Given the description of an element on the screen output the (x, y) to click on. 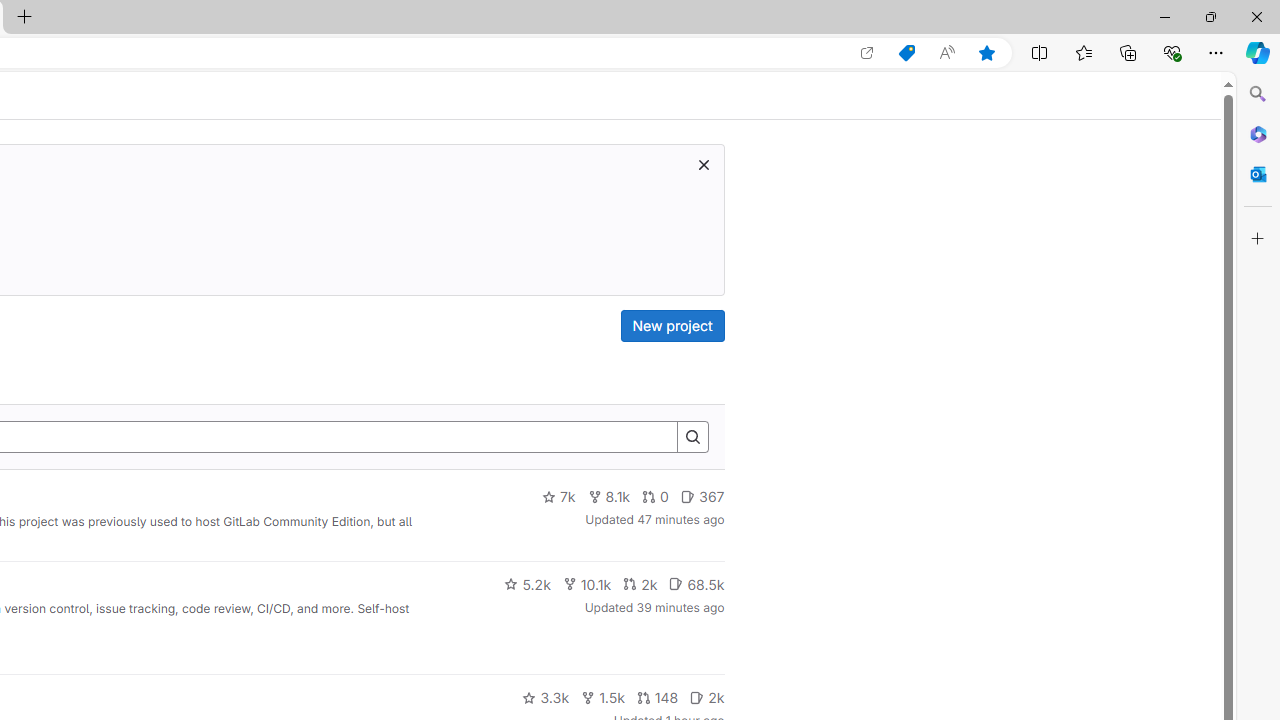
New project (671, 326)
367 (701, 497)
Open in app (867, 53)
68.5k (696, 583)
8.1k (609, 497)
5.2k (527, 583)
148 (657, 697)
